Given the description of an element on the screen output the (x, y) to click on. 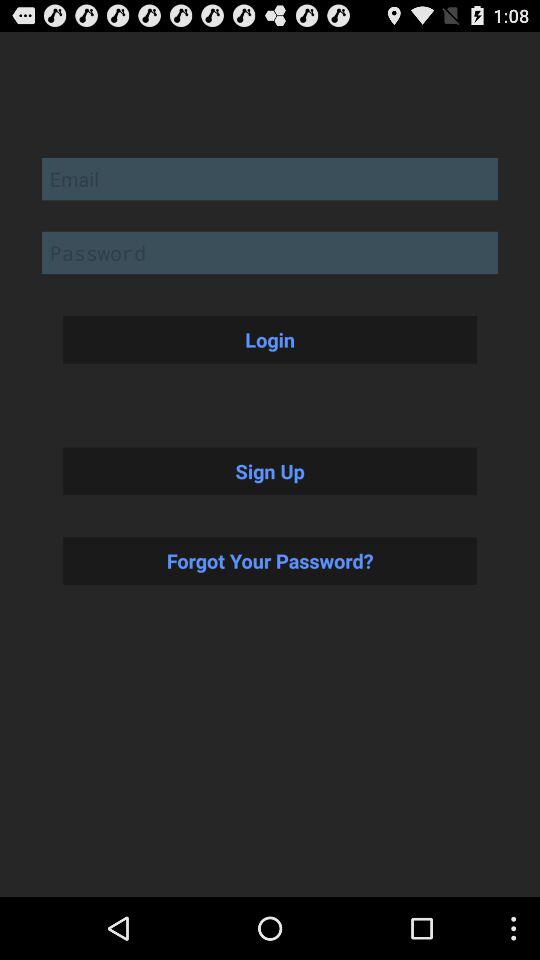
press the forgot your password? icon (269, 560)
